Given the description of an element on the screen output the (x, y) to click on. 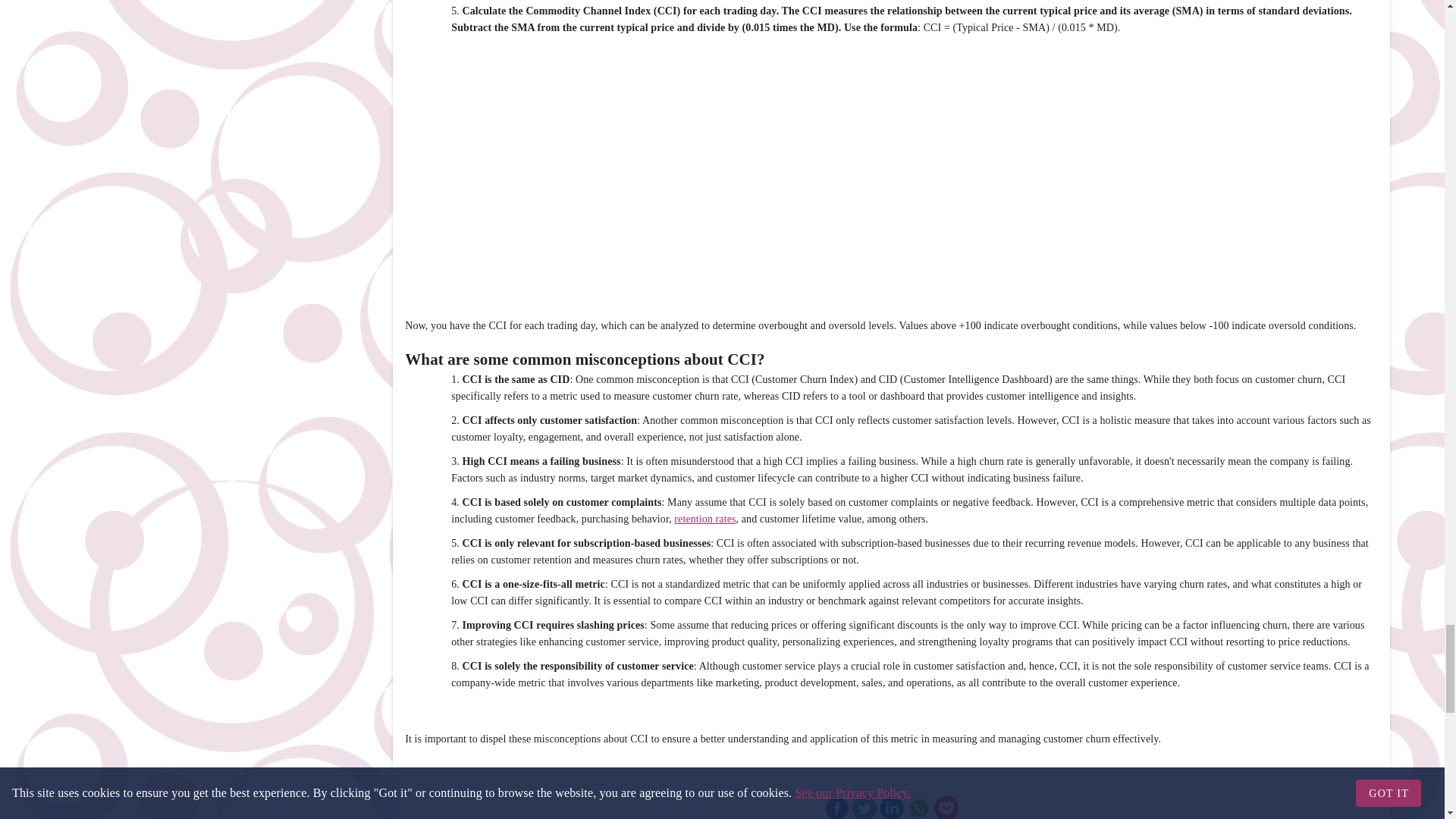
Twitter (863, 807)
Whatsapp (919, 807)
Facebook (836, 807)
LinkedIn (891, 807)
Pocket (946, 807)
